Given the description of an element on the screen output the (x, y) to click on. 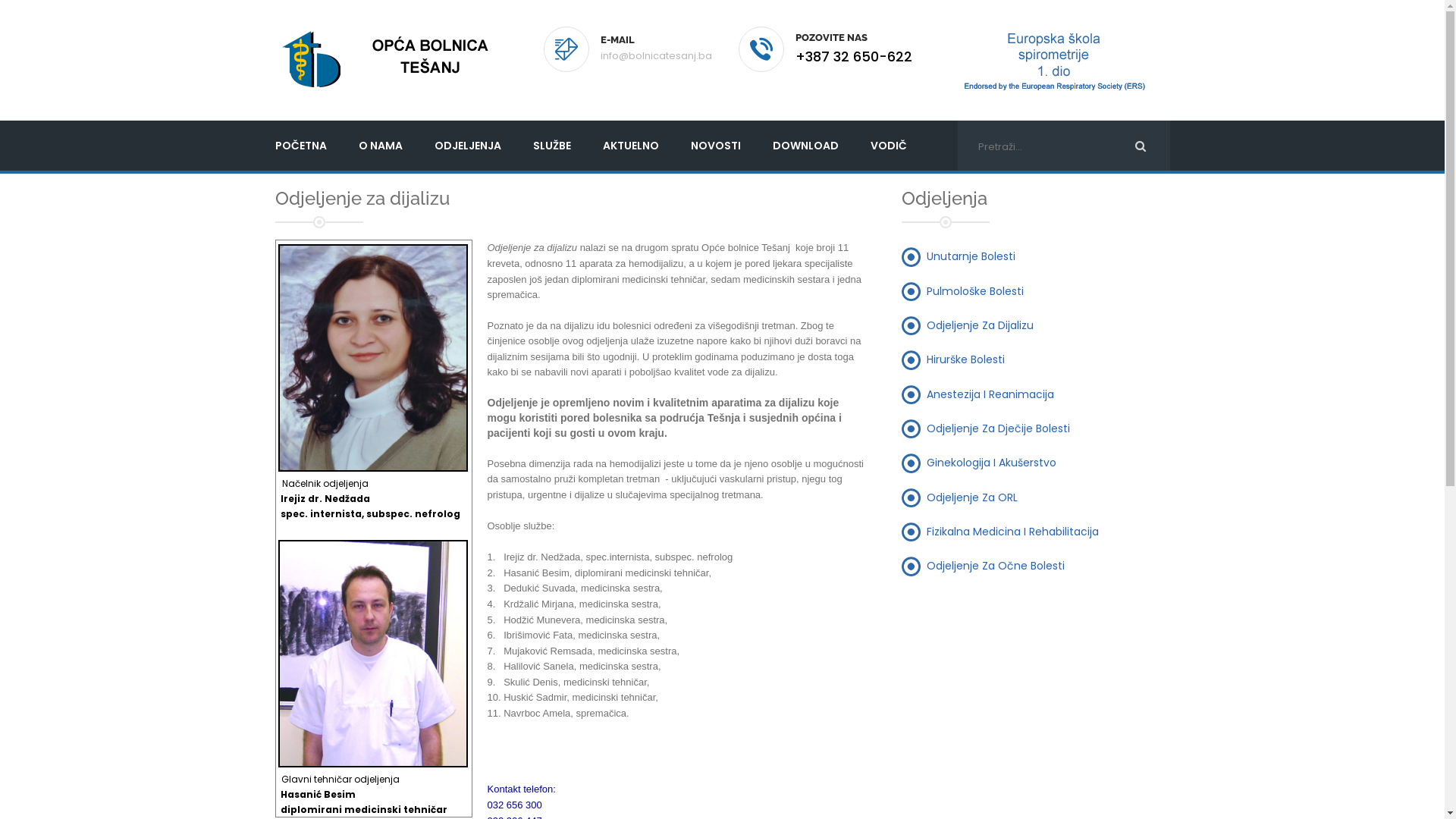
AKTUELNO Element type: text (630, 145)
DOWNLOAD Element type: text (805, 145)
ODJELJENJA Element type: text (467, 145)
Unutarnje Bolesti Element type: text (970, 255)
Odjeljenje Za ORL Element type: text (971, 496)
Anestezija I Reanimacija Element type: text (990, 393)
Odjeljenje Za Dijalizu Element type: text (979, 324)
NOVOSTI Element type: text (715, 145)
O NAMA Element type: text (380, 145)
Fizikalna Medicina I Rehabilitacija Element type: text (1012, 530)
